Given the description of an element on the screen output the (x, y) to click on. 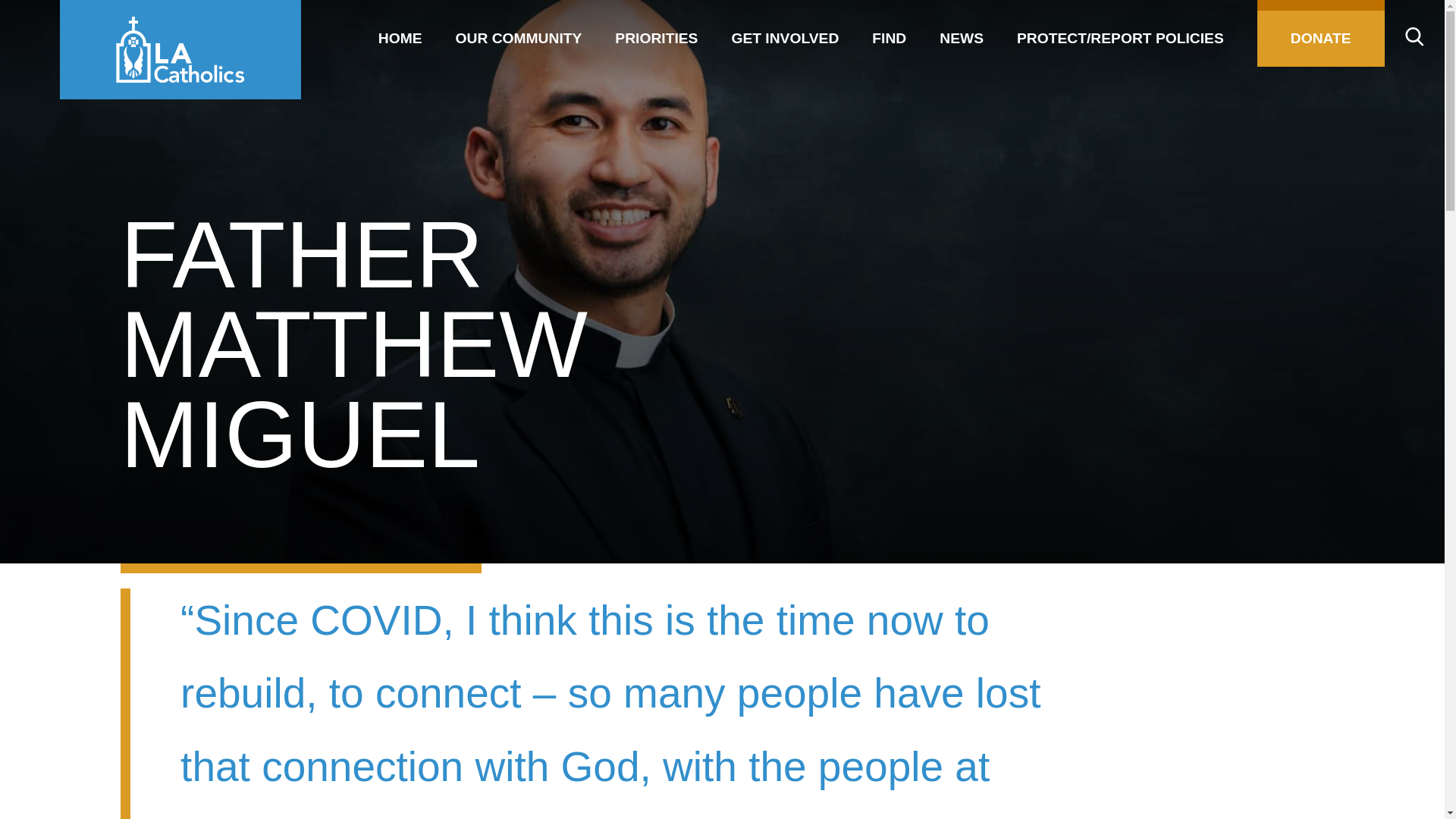
Catholic LA (180, 49)
HOME (400, 33)
OUR COMMUNITY (518, 33)
